Given the description of an element on the screen output the (x, y) to click on. 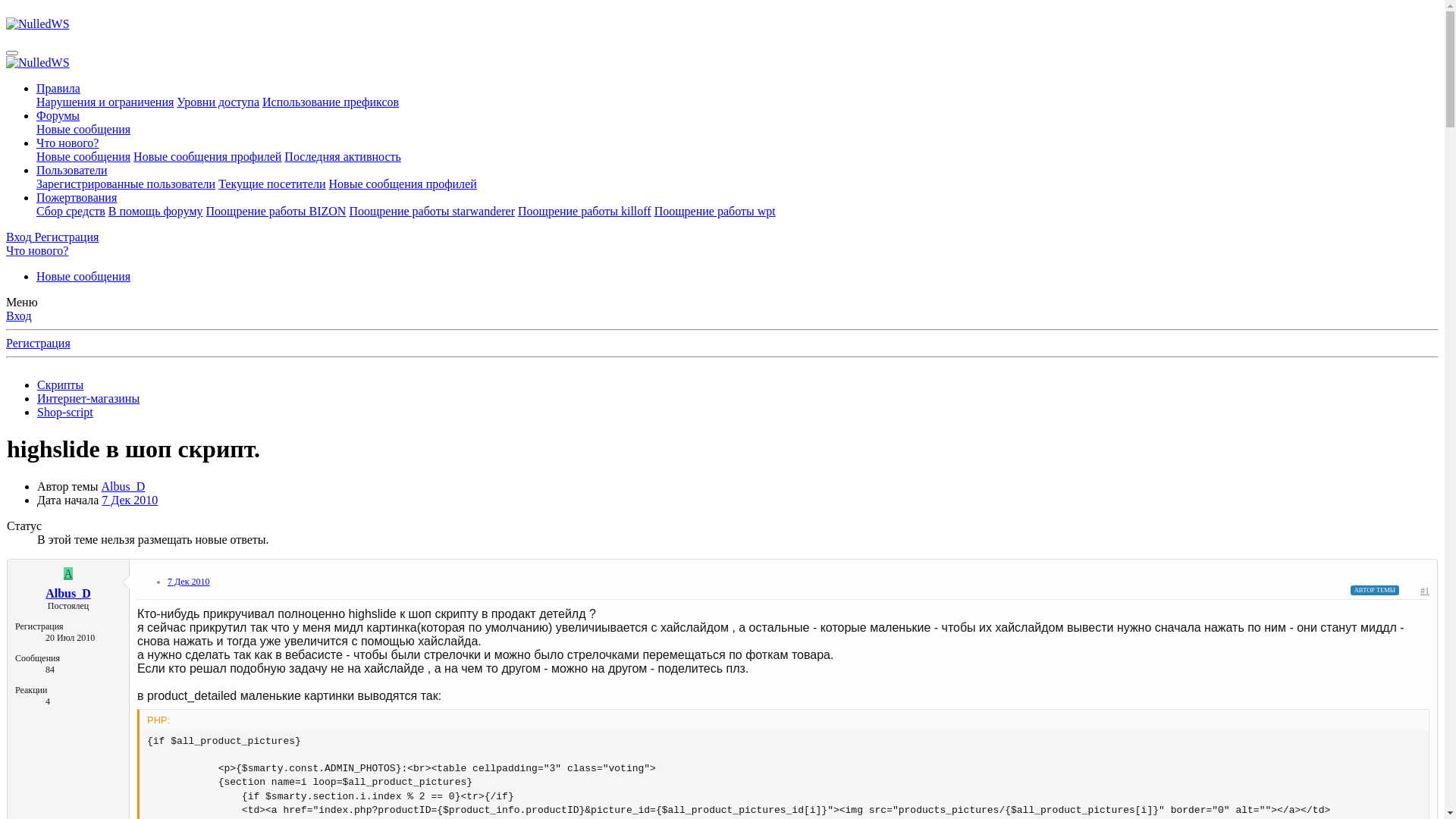
#1 Element type: text (1424, 590)
Albus_D Element type: text (68, 592)
Albus_D Element type: text (122, 486)
A Element type: text (67, 573)
Shop-script Element type: text (65, 411)
